Given the description of an element on the screen output the (x, y) to click on. 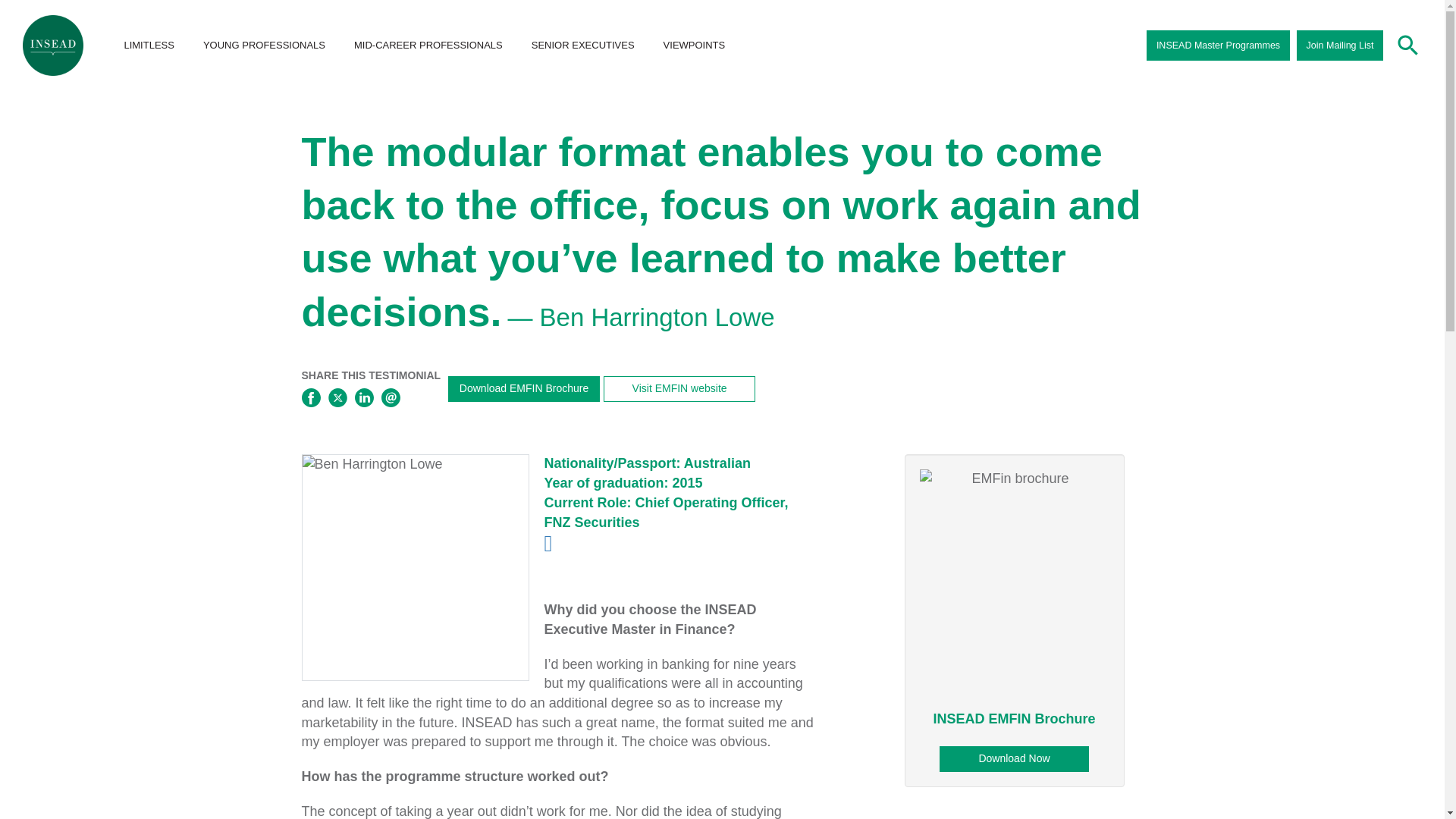
Download EMFIN Brochure (523, 388)
VIEWPOINTS (694, 45)
YOUNG PROFESSIONALS (263, 45)
INSEAD Master Programmes (1217, 45)
MID-CAREER PROFESSIONALS (428, 45)
Download Now (1013, 759)
Join Mailing List (1340, 45)
Visit EMFIN website (679, 388)
INSEAD (52, 45)
SENIOR EXECUTIVES (583, 45)
